Given the description of an element on the screen output the (x, y) to click on. 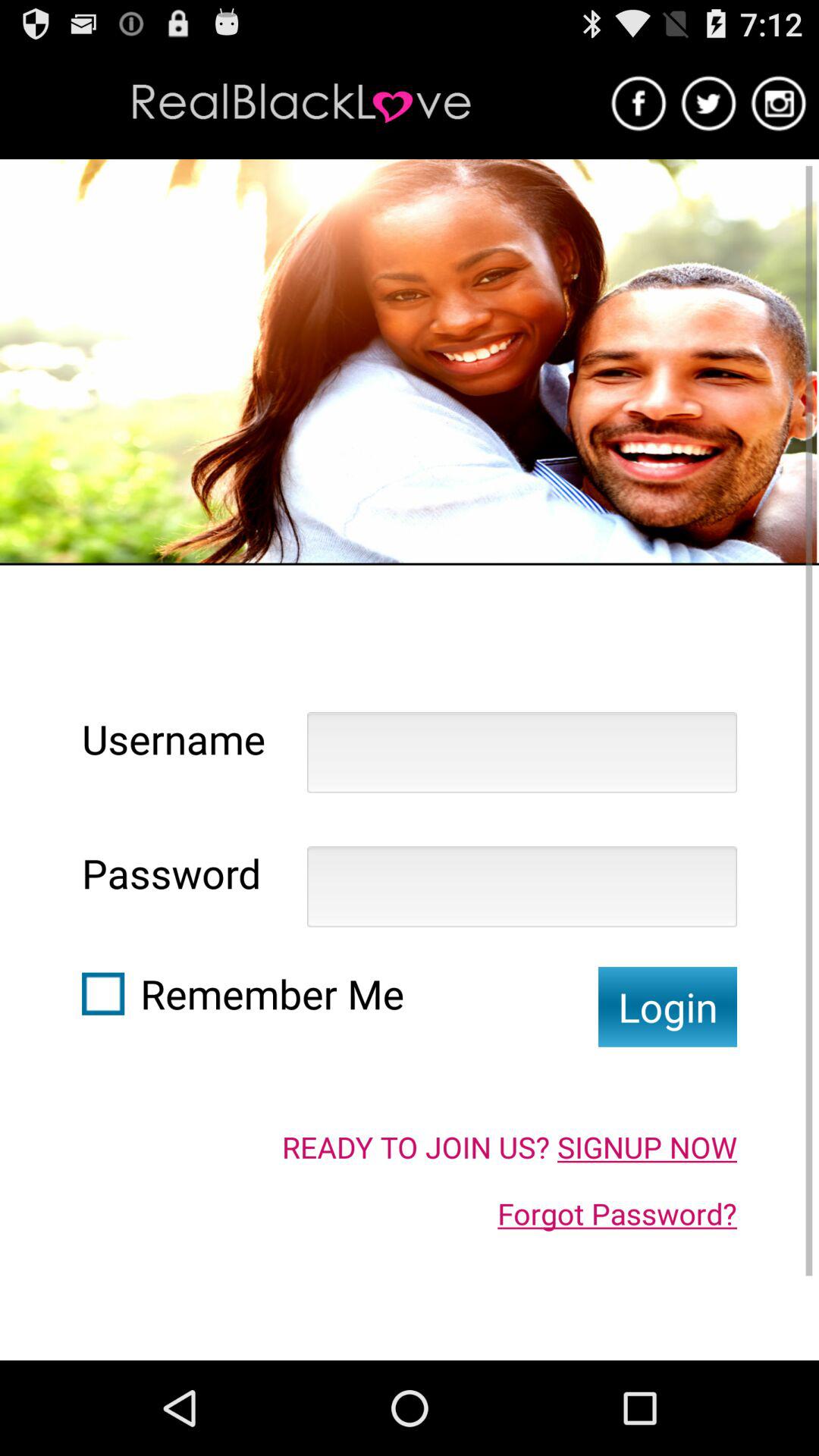
tap icon at the bottom (509, 1147)
